Given the description of an element on the screen output the (x, y) to click on. 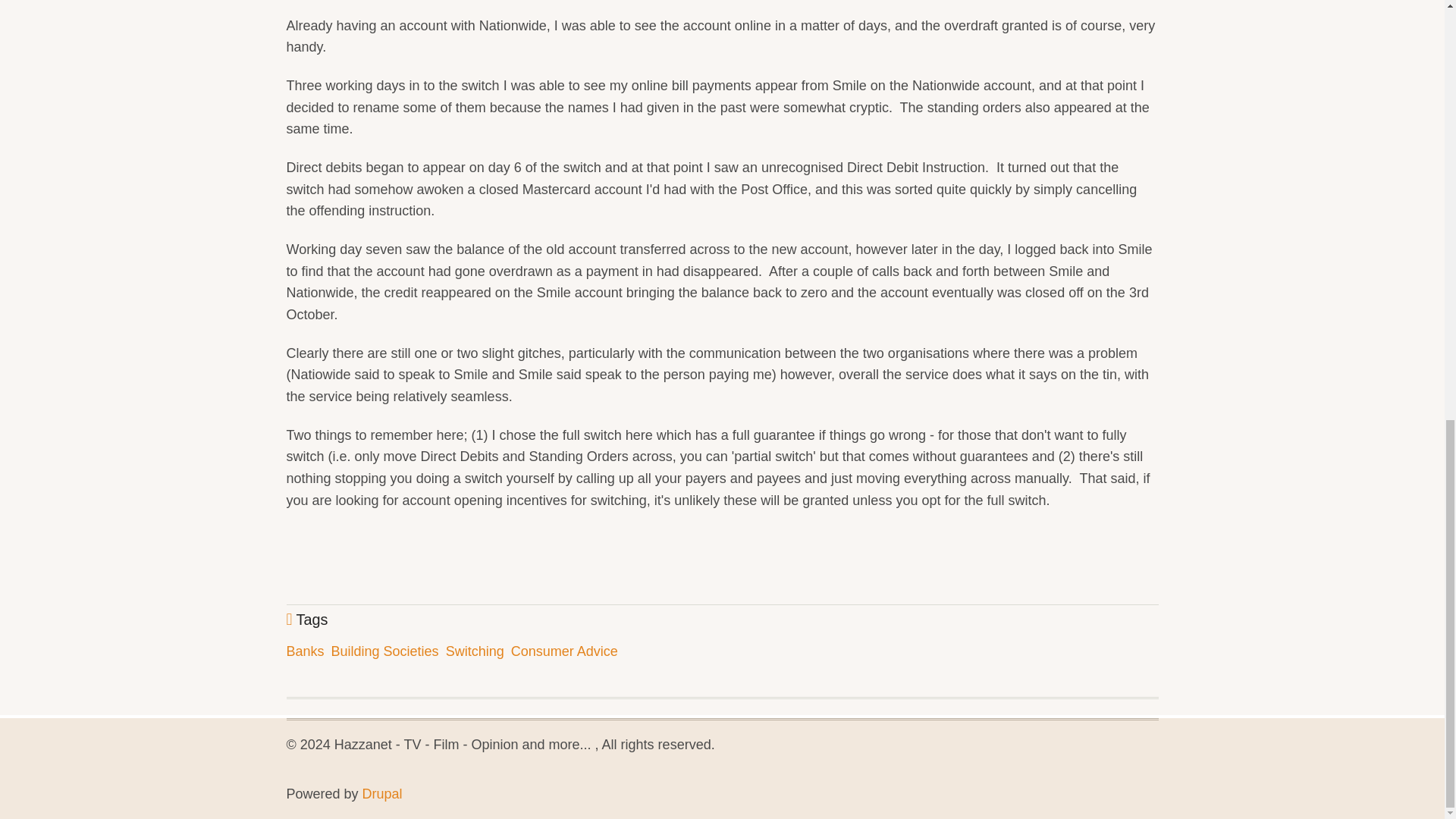
Switching (474, 651)
Banks (305, 651)
Building Societies (385, 651)
Consumer Advice (564, 651)
